Given the description of an element on the screen output the (x, y) to click on. 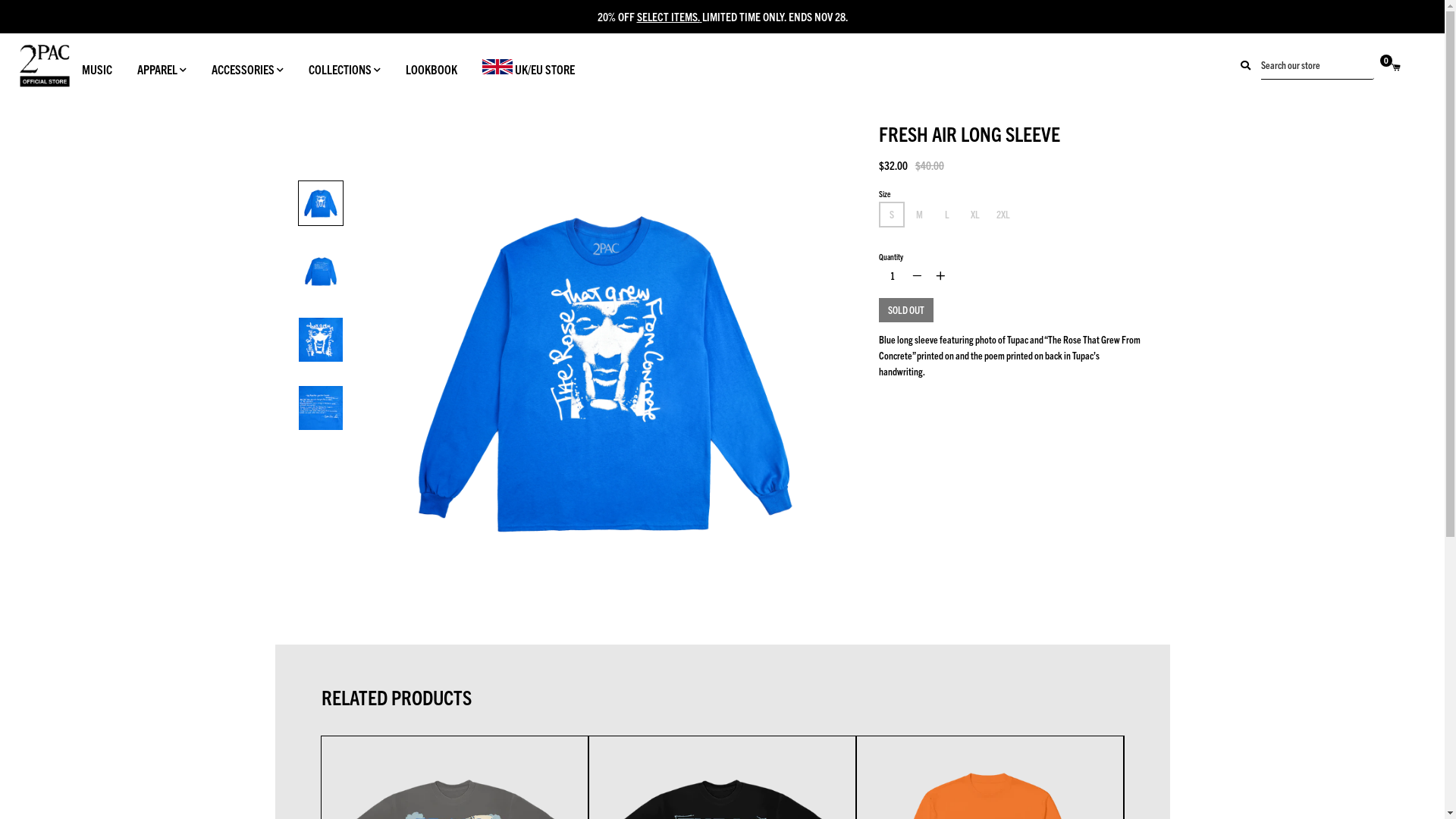
LOOKBOOK Element type: text (431, 67)
UK/EU STORE Element type: text (528, 65)
0 Element type: text (1403, 64)
+ Element type: text (940, 276)
MUSIC Element type: text (96, 67)
Fresh Air Long Sleeve Element type: hover (605, 370)
ACCESSORIES Element type: text (247, 67)
SELECT ITEMS. Element type: text (668, 16)
SOLD OUT Element type: text (905, 310)
COLLECTIONS Element type: text (344, 67)
APPAREL Element type: text (161, 67)
